Given the description of an element on the screen output the (x, y) to click on. 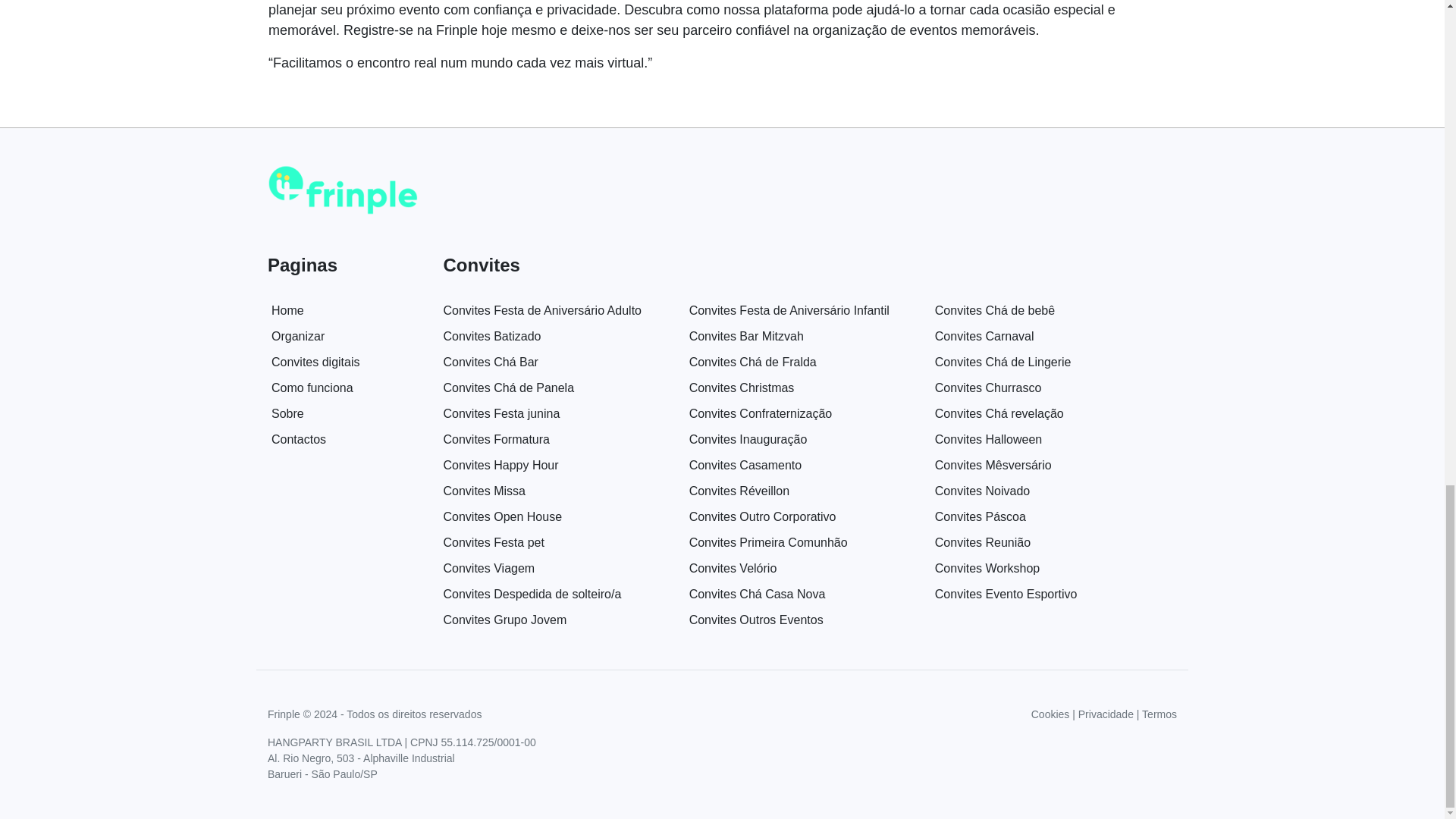
Convites Formatura (496, 439)
Organizar (297, 336)
Convites Bar Mitzvah (745, 336)
Contactos (298, 439)
Sobre (287, 413)
Convites Churrasco (988, 387)
Convites Carnaval (983, 336)
Convites Festa junina (500, 413)
Convites Christmas (741, 387)
Convites Batizado (491, 336)
Home (287, 309)
Como funciona (311, 387)
Convites digitais (314, 361)
